Given the description of an element on the screen output the (x, y) to click on. 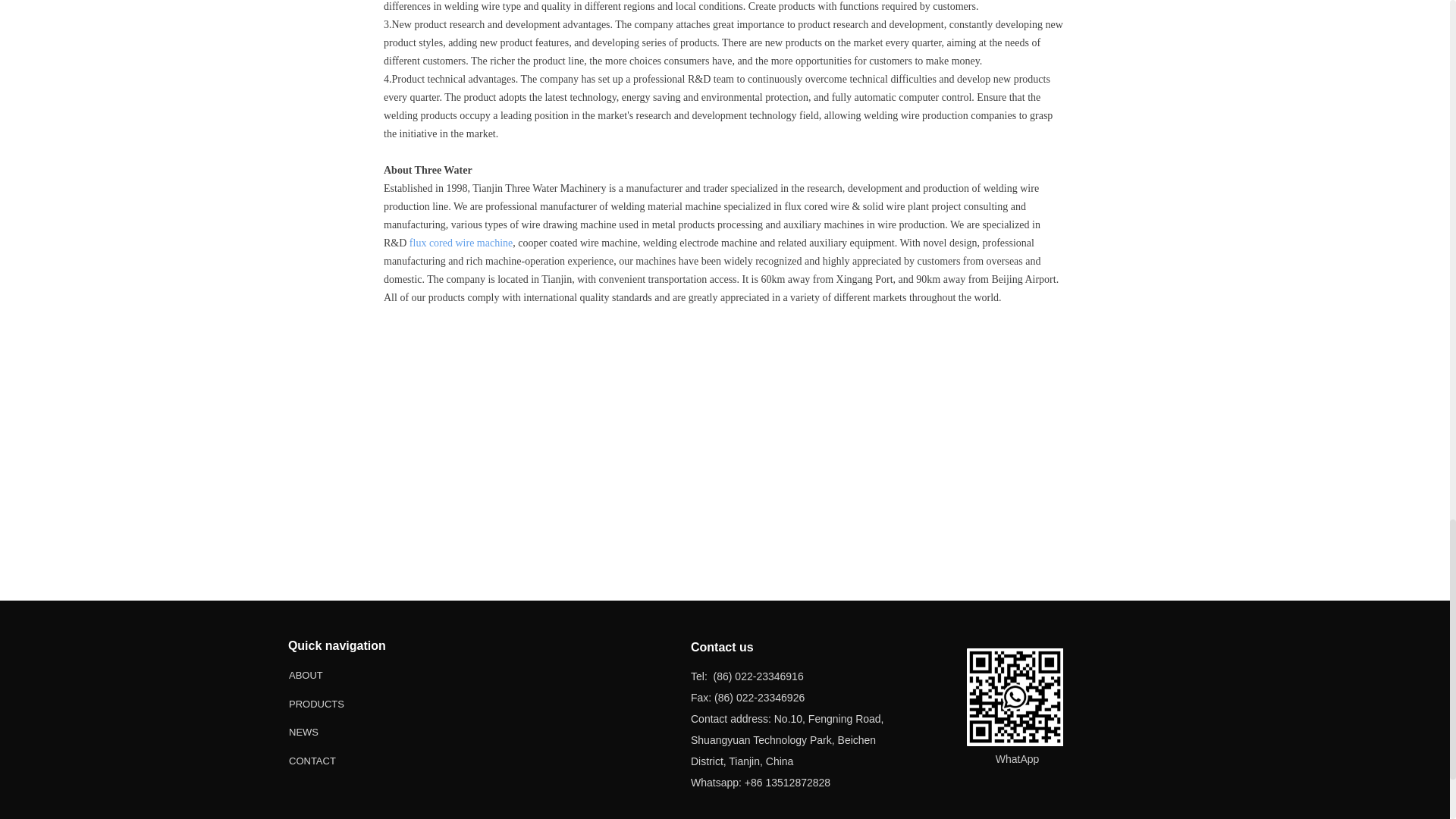
CONTACT (337, 759)
PRODUCTS (337, 704)
flux cored wire machine (460, 242)
ABOUT (337, 674)
NEWS (337, 732)
flux cored wire machine (460, 242)
